Given the description of an element on the screen output the (x, y) to click on. 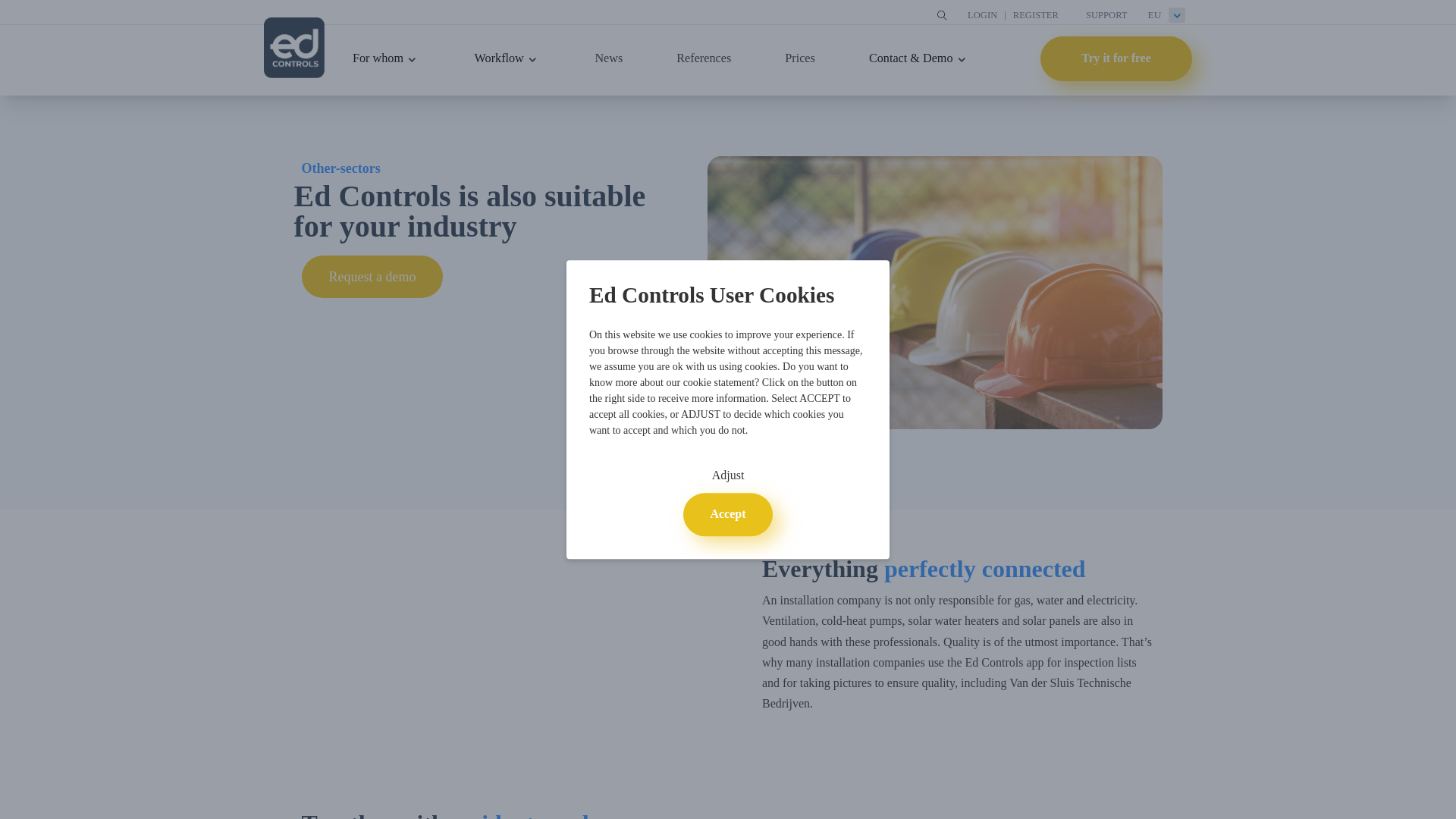
For whom (377, 58)
LOGIN (982, 15)
REGISTER (1035, 15)
Accept (726, 514)
SUPPORT (1106, 15)
Try it for free (1116, 58)
Adjust (727, 476)
Request a demo (372, 276)
